Given the description of an element on the screen output the (x, y) to click on. 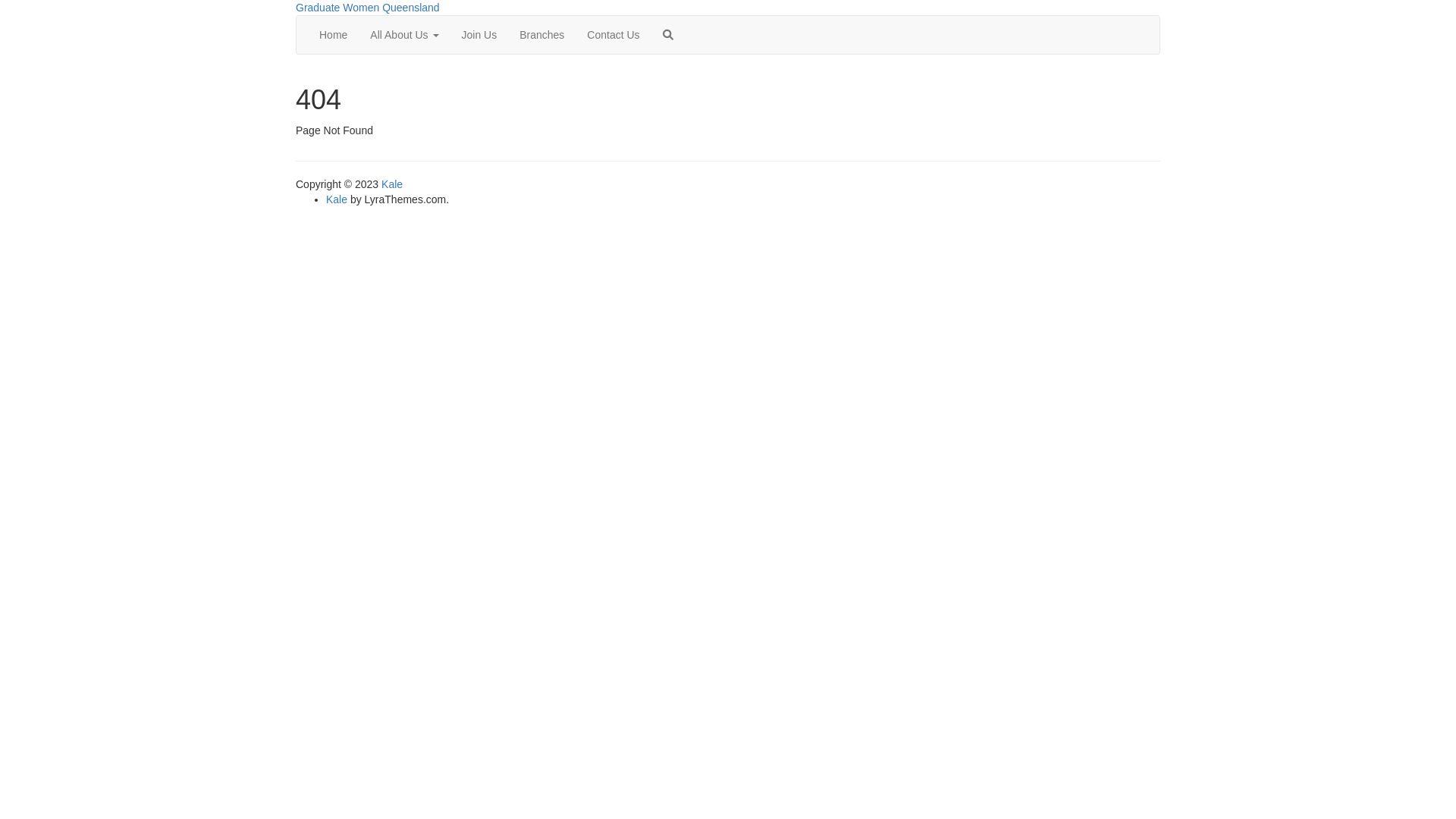
Graduate Women Queensland Element type: text (367, 7)
Kale Element type: text (391, 184)
Home Element type: text (332, 34)
Kale Element type: text (336, 199)
All About Us Element type: text (403, 34)
Contact Us Element type: text (612, 34)
Join Us Element type: text (479, 34)
Branches Element type: text (541, 34)
